Given the description of an element on the screen output the (x, y) to click on. 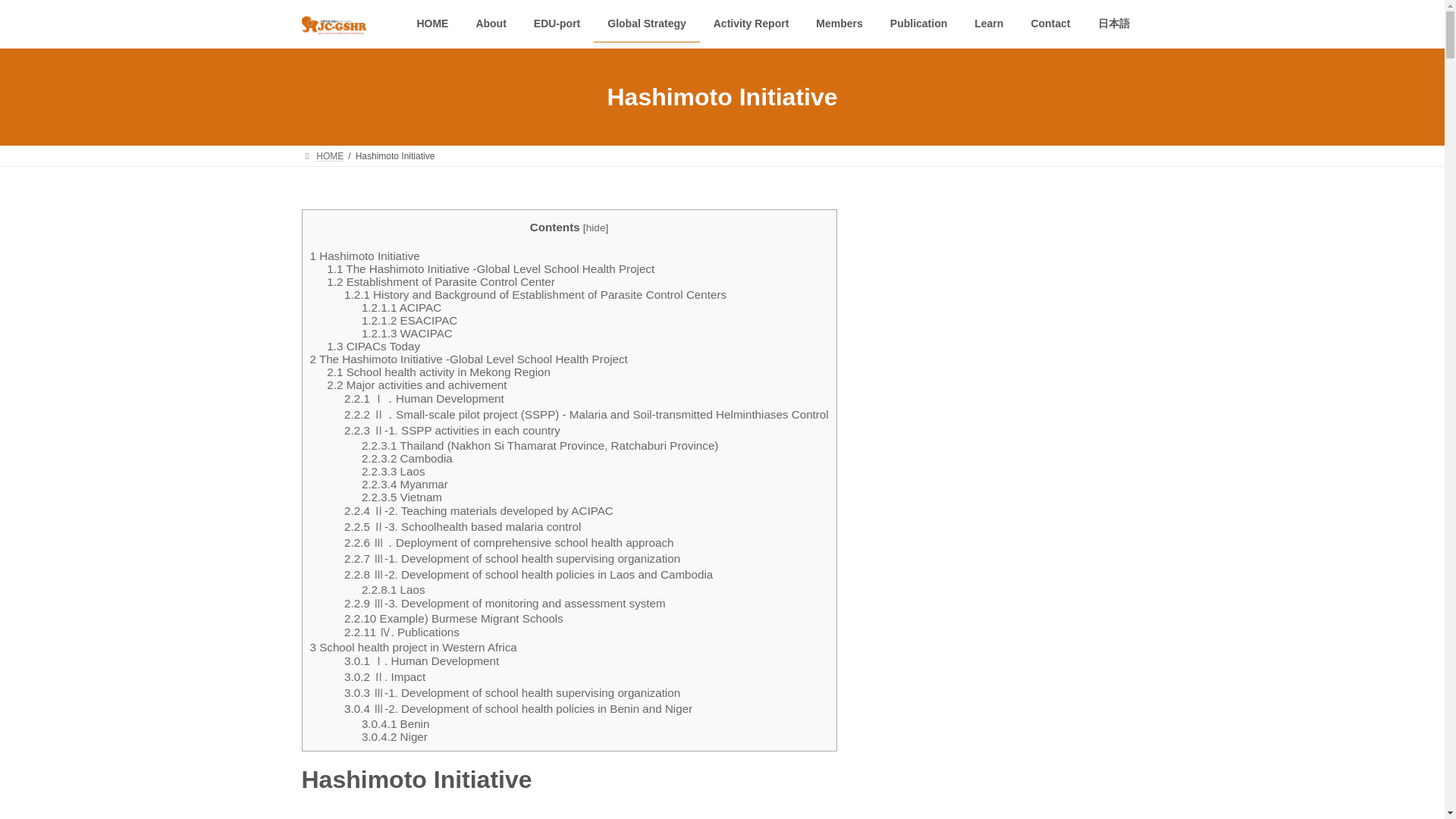
1 Hashimoto Initiative (363, 255)
Activity Report (751, 23)
1.2.1.3 WACIPAC (406, 332)
1.3 CIPACs Today (373, 345)
1.2 Establishment of Parasite Control Center (440, 281)
Publication (918, 23)
Contact (1049, 23)
Members (839, 23)
Global Strategy (646, 23)
2.2 Major activities and achivement (416, 384)
About (490, 23)
HOME (432, 23)
